Given the description of an element on the screen output the (x, y) to click on. 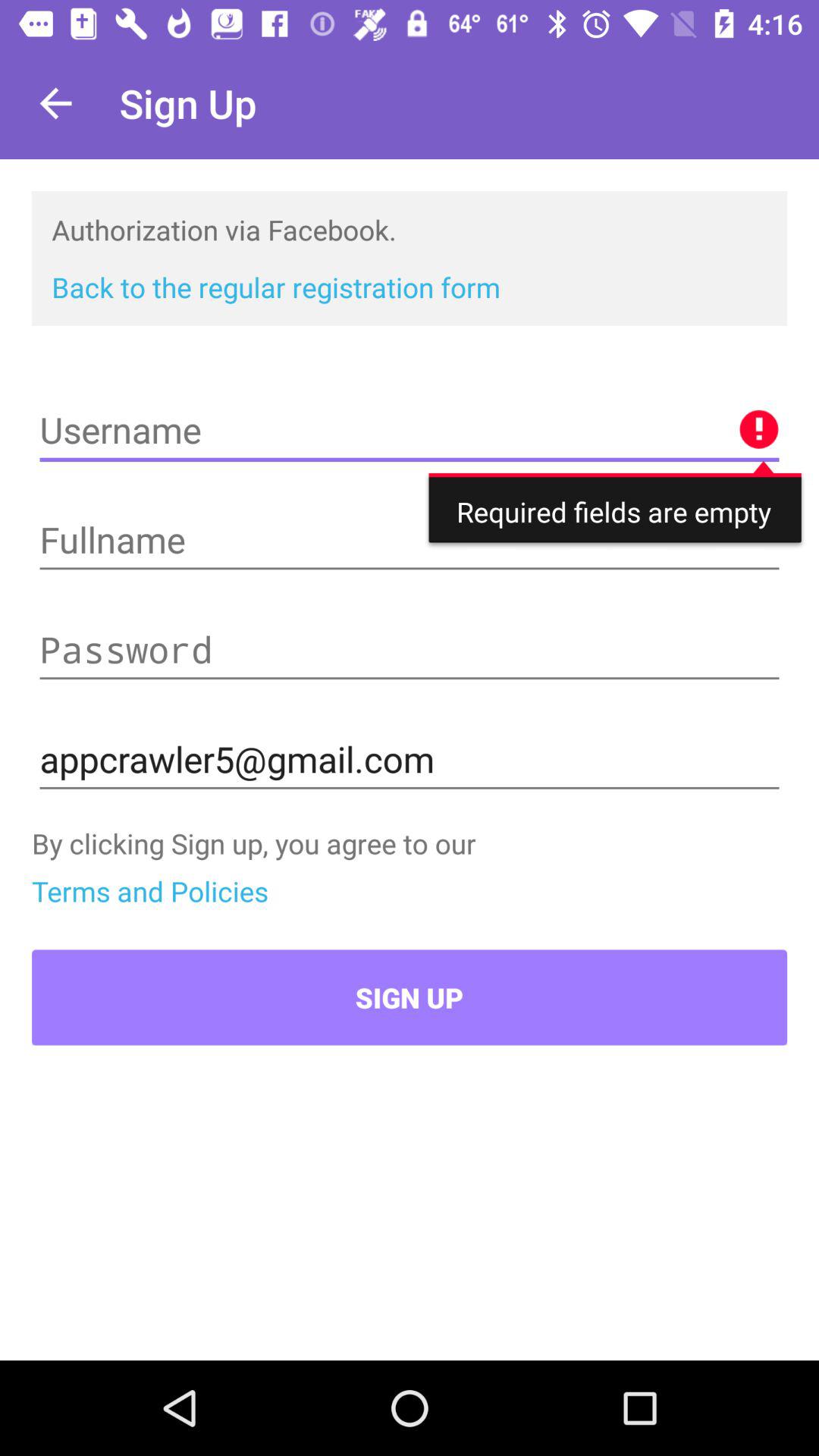
enter your password (409, 650)
